Given the description of an element on the screen output the (x, y) to click on. 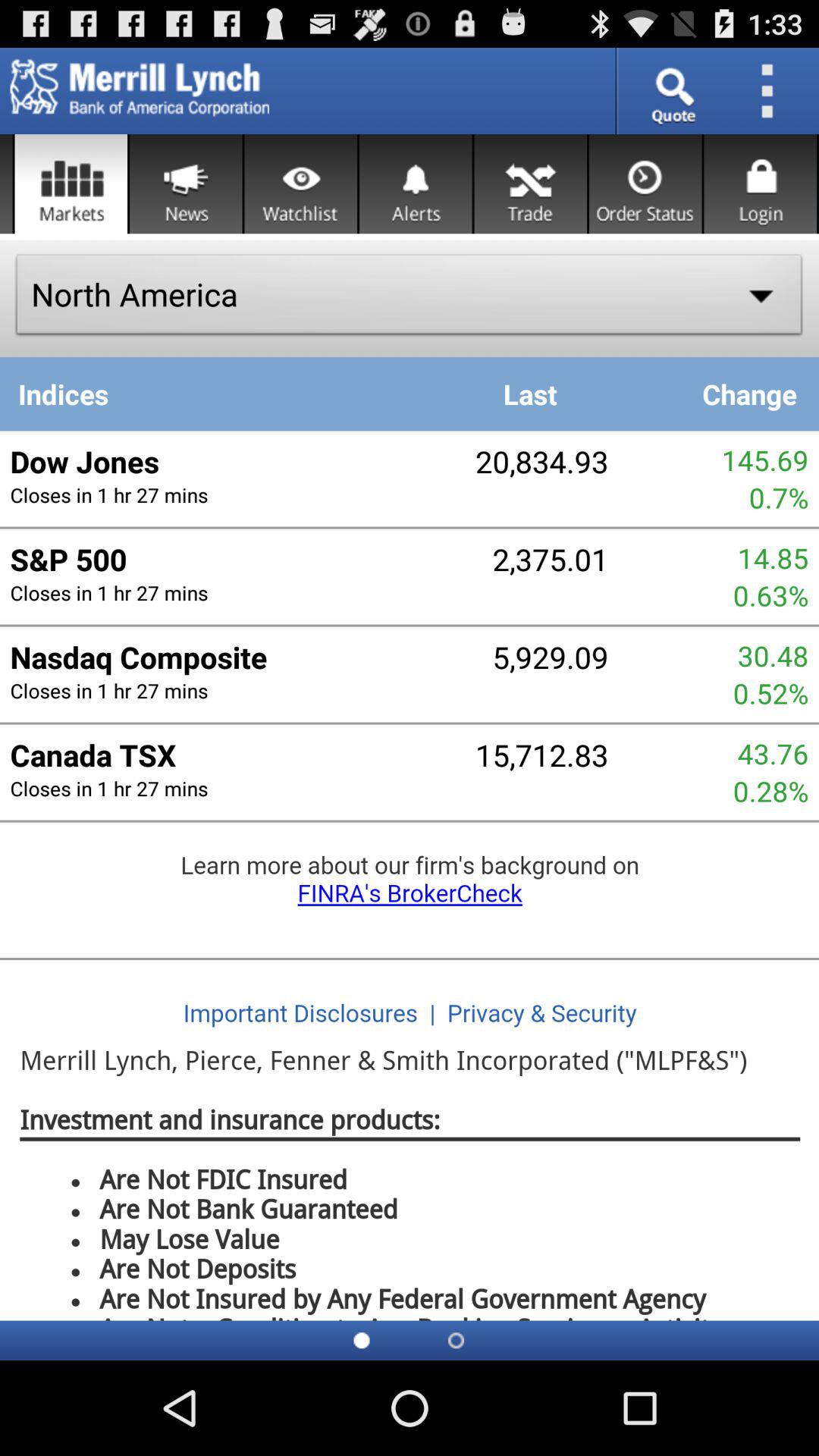
go to markets (70, 183)
